Given the description of an element on the screen output the (x, y) to click on. 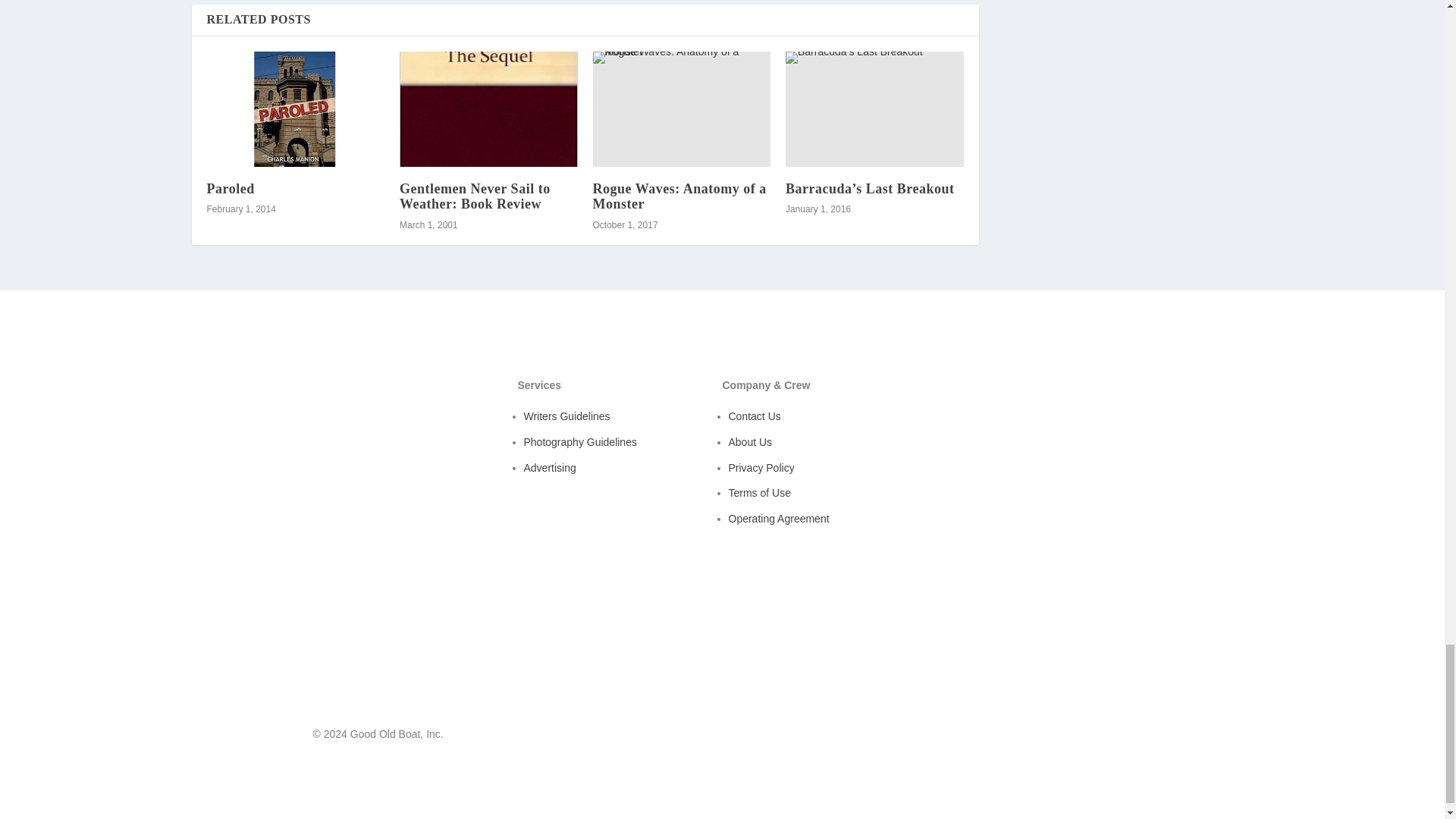
Gentlemen Never Sail to Weather: Book Review (474, 195)
Follow on Facebook (1088, 737)
Rogue Waves: Anatomy of a Monster (681, 109)
Follow on Youtube (1118, 737)
Rogue Waves: Anatomy of a Monster (679, 195)
Paroled (229, 188)
Paroled (295, 109)
Gentlemen Never Sail to Weather: Book Review (488, 109)
